Given the description of an element on the screen output the (x, y) to click on. 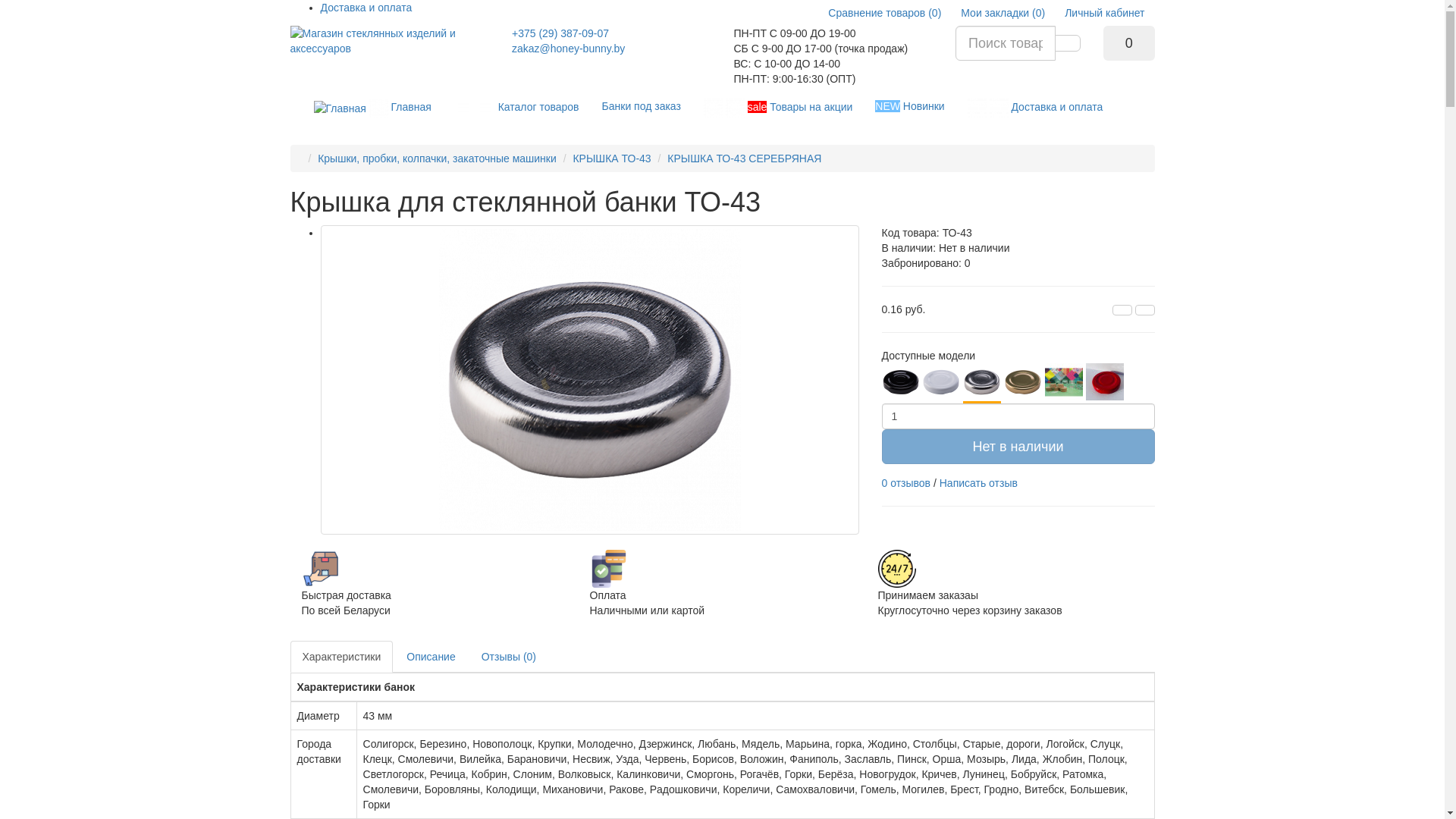
zakaz@honey-bunny.by Element type: text (567, 48)
0 Element type: text (1128, 42)
Sale Element type: hover (897, 568)
+375 (29) 387-09-07 Element type: text (559, 33)
